Given the description of an element on the screen output the (x, y) to click on. 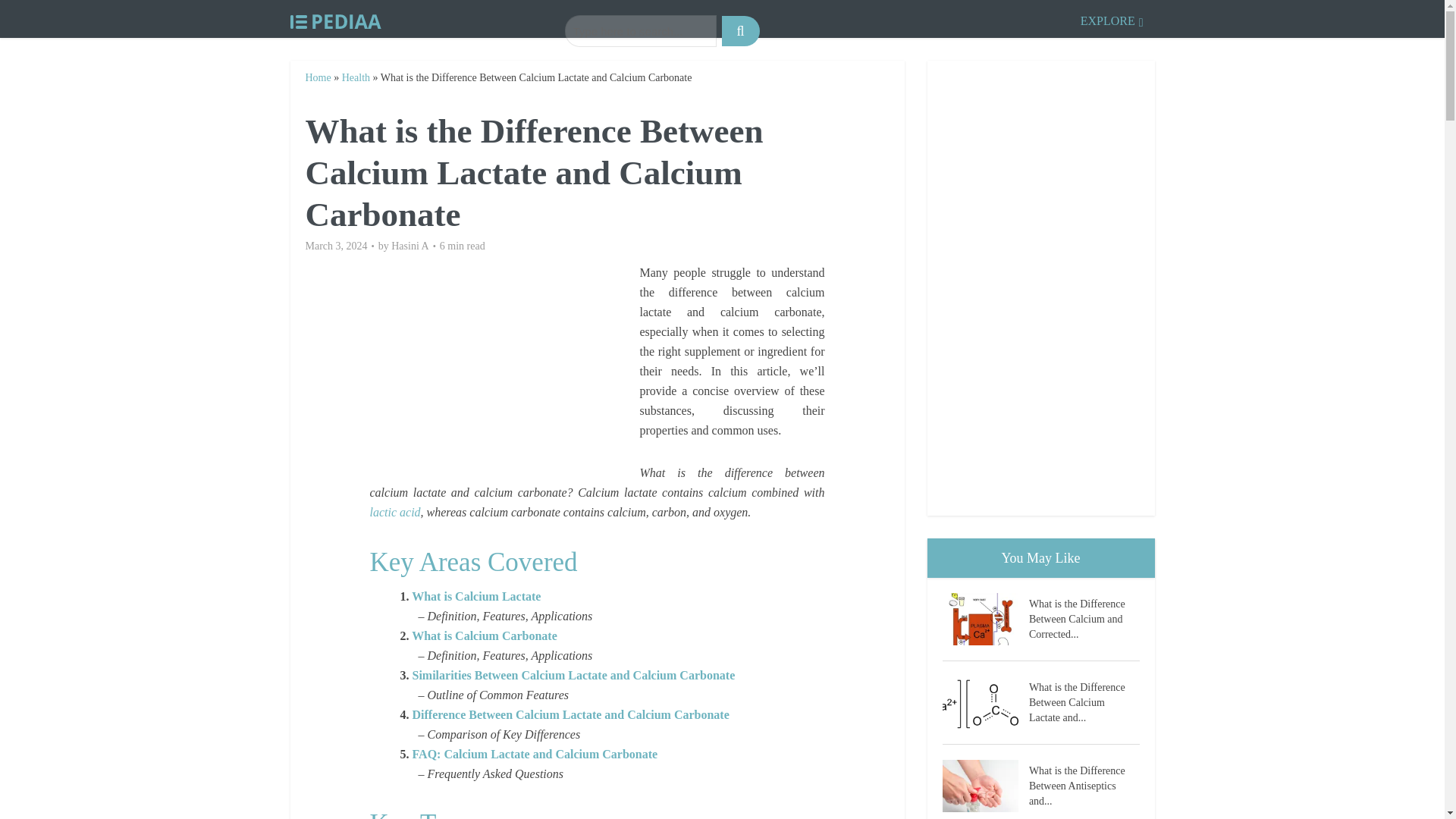
What is Calcium Lactate (476, 595)
lactic acid (394, 512)
Advertisement (504, 368)
Home (317, 77)
What is Calcium Carbonate (484, 635)
Hasini A (409, 246)
Similarities Between Calcium Lactate and Calcium Carbonate (573, 675)
What is the Difference Between Calcium and Corrected Calcium (984, 618)
What is the Difference Between Calcium and Corrected Calcium (1084, 617)
